Given the description of an element on the screen output the (x, y) to click on. 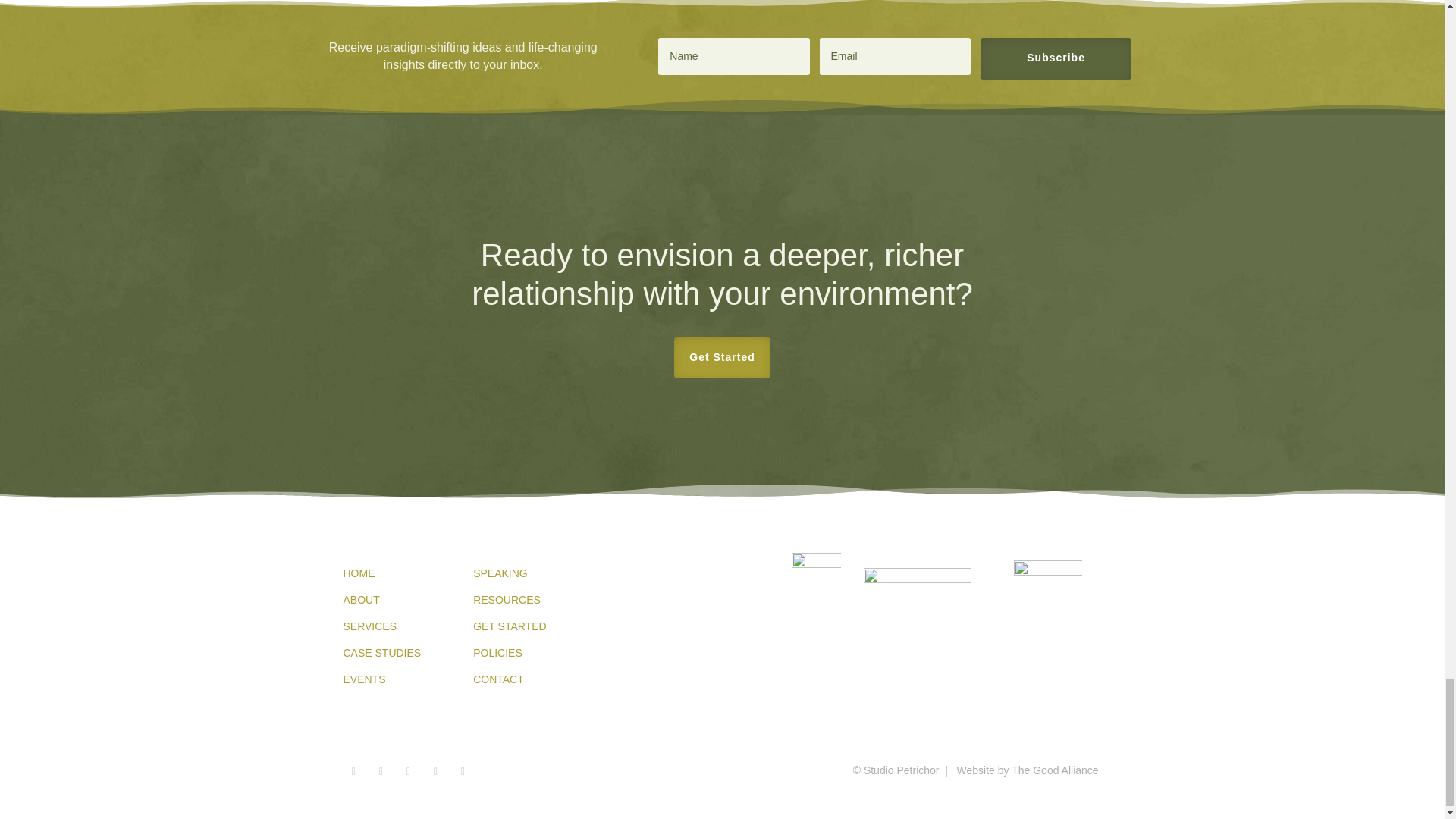
Subscribe (1055, 58)
Follow on Youtube (435, 771)
Follow on Instagram (380, 771)
Follow on LinkedIn (462, 771)
Follow on TikTok (408, 771)
Get Started (722, 357)
ABOUT (360, 599)
DesignFuturist (1047, 591)
HOME (358, 573)
Follow on Facebook (353, 771)
